Given the description of an element on the screen output the (x, y) to click on. 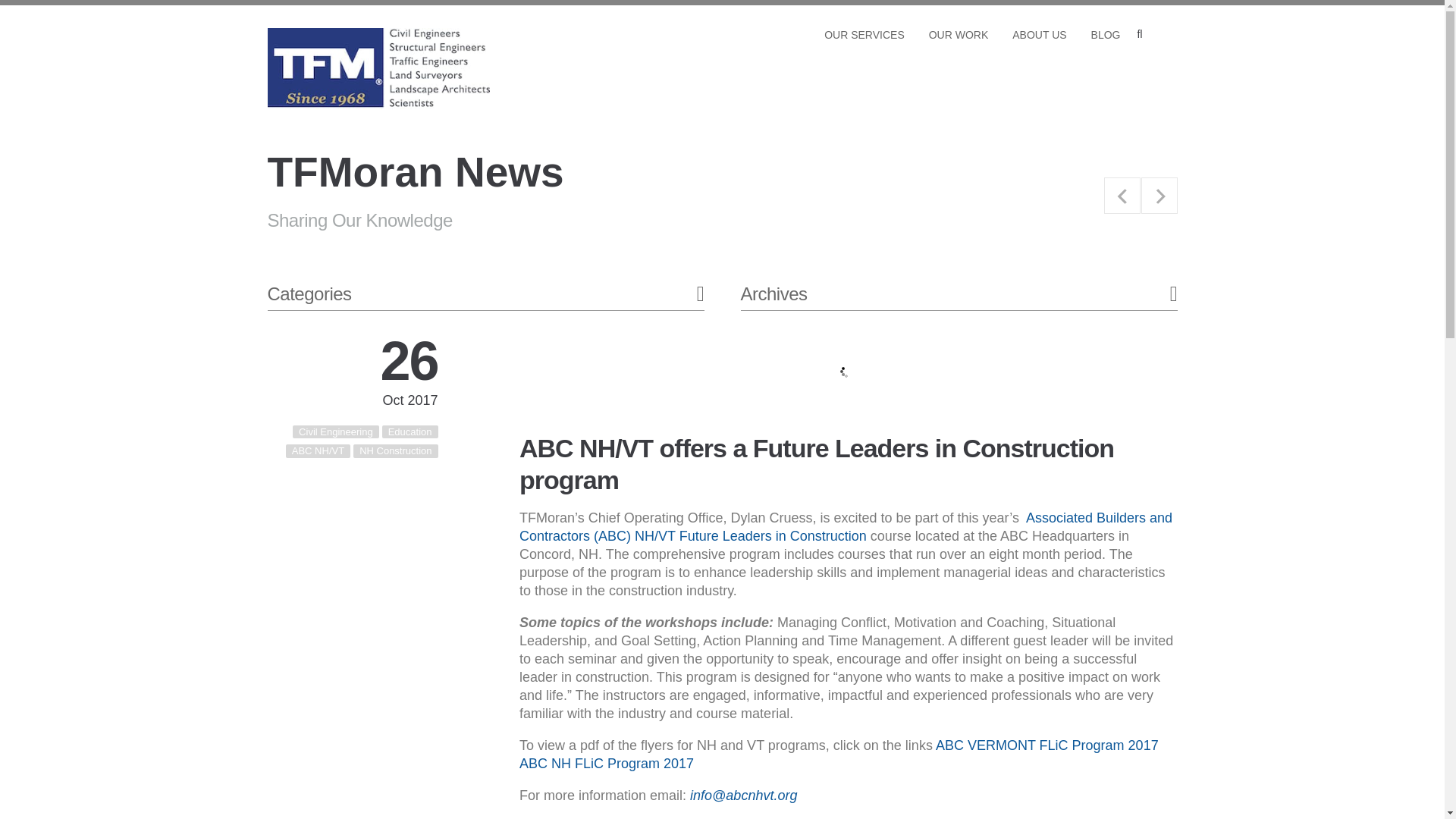
ABOUT US (1039, 32)
BLOG (1105, 32)
OUR WORK (959, 32)
OUR SERVICES (864, 32)
Congratulations to Business Excellence Winner, Dylan Cruess! (1158, 195)
TFMoran (293, 131)
The Bedford Bulletin features Kids Safety Day (1121, 195)
